Given the description of an element on the screen output the (x, y) to click on. 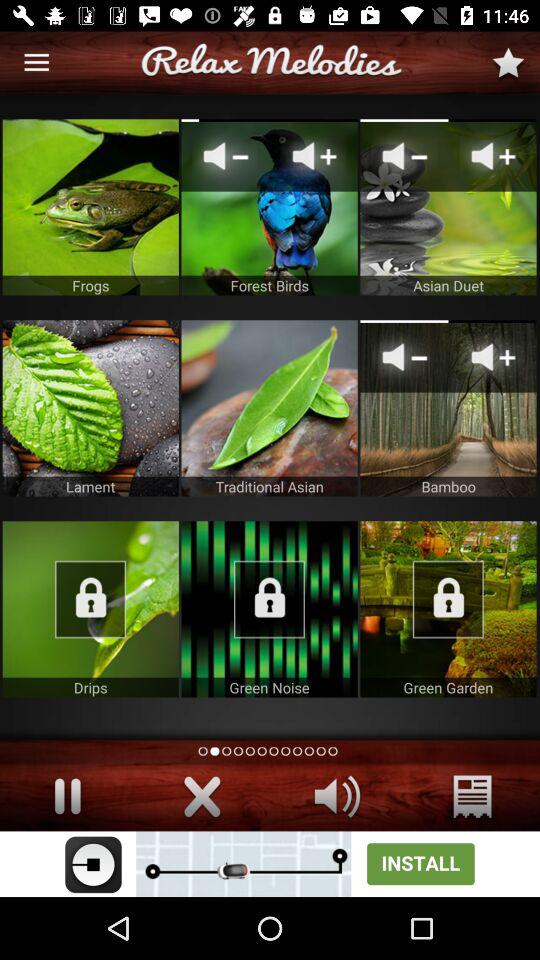
play audio file (90, 609)
